Given the description of an element on the screen output the (x, y) to click on. 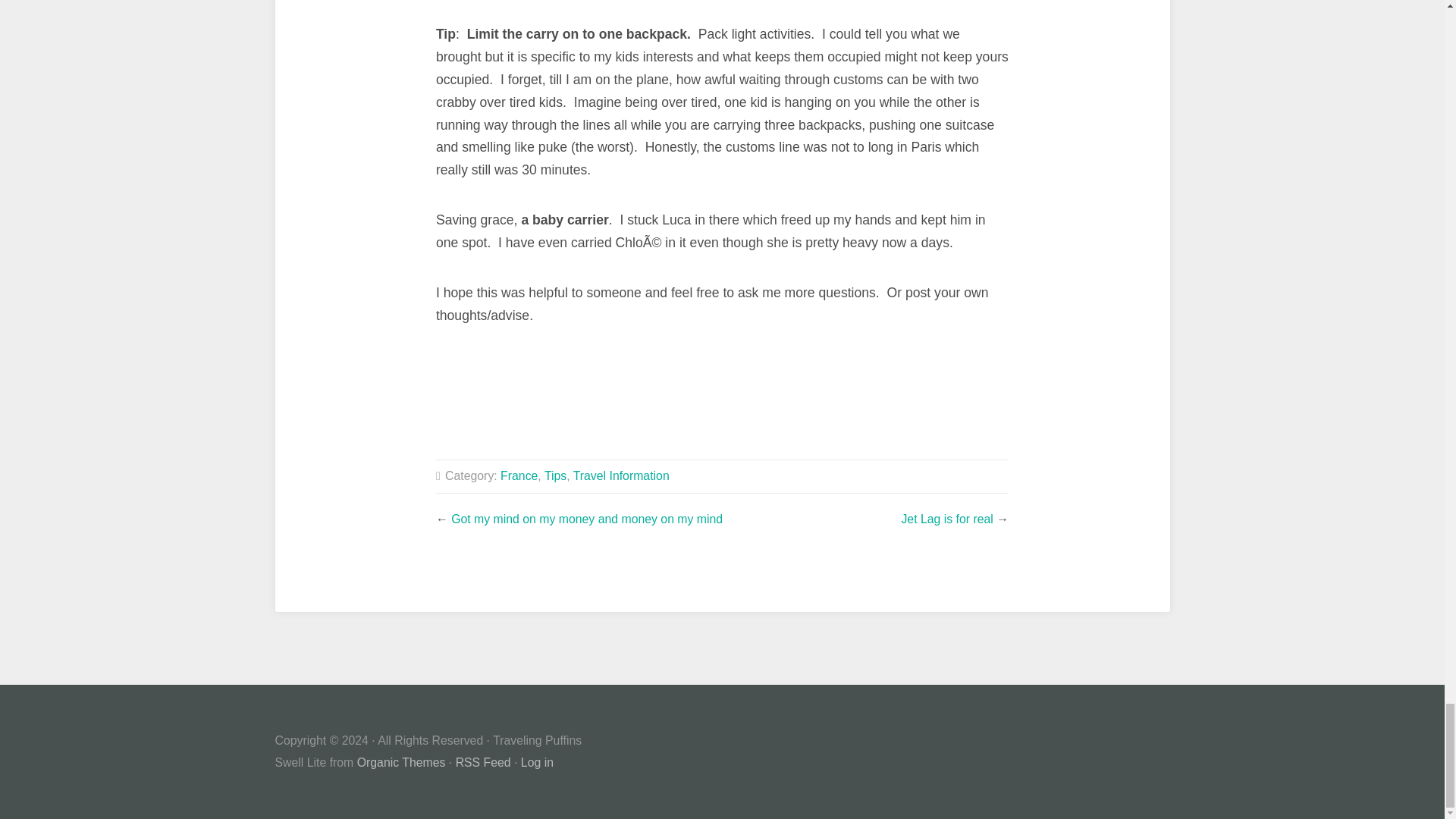
Travel Information (621, 475)
France (518, 475)
RSS Feed (483, 762)
Got my mind on my money and money on my mind (586, 518)
Tips (555, 475)
Organic Themes (400, 762)
Log in (537, 762)
Jet Lag is for real (946, 518)
